Given the description of an element on the screen output the (x, y) to click on. 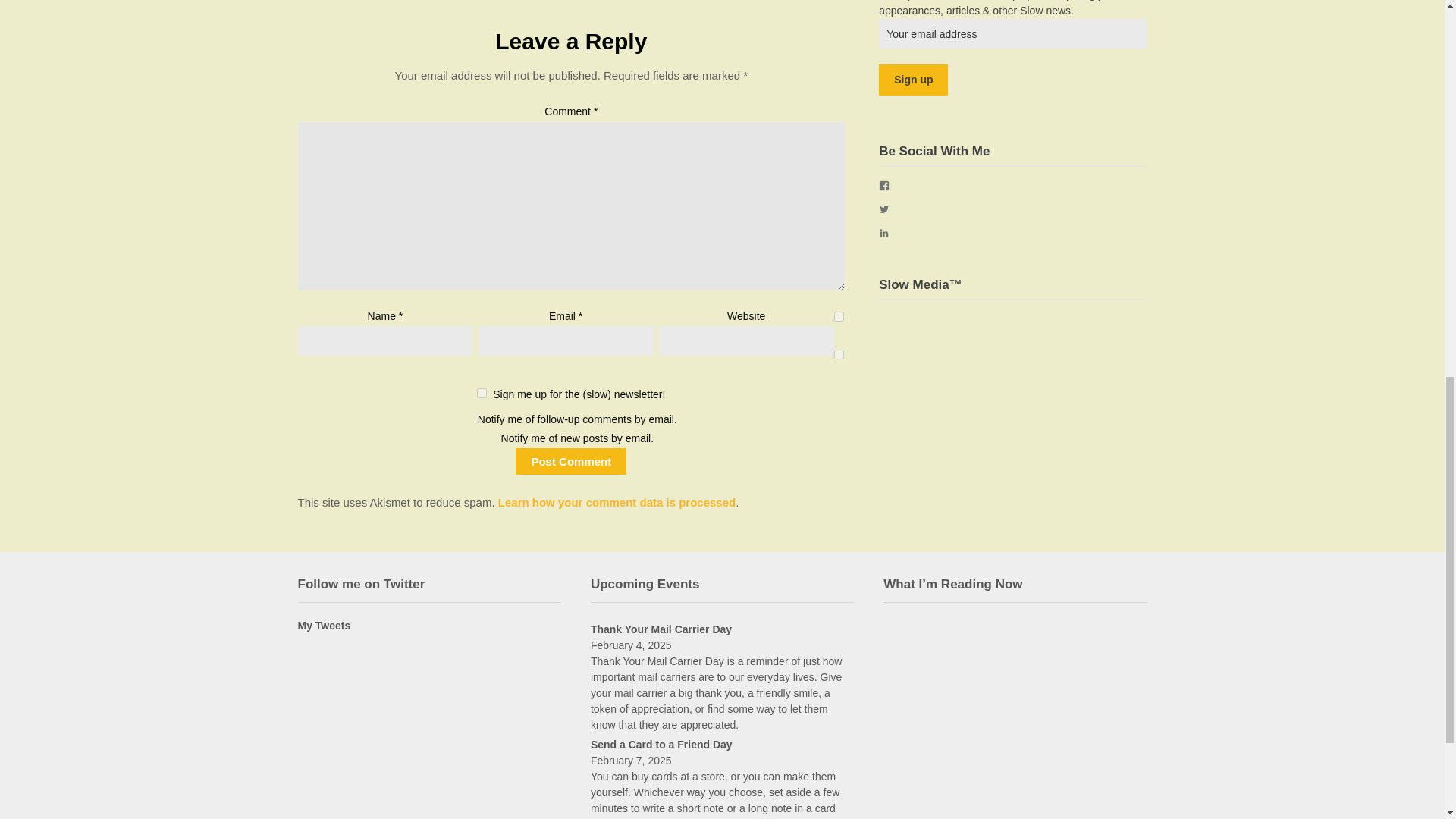
1 (481, 393)
Sign up (913, 79)
My Tweets (323, 625)
subscribe (839, 316)
subscribe (839, 354)
Sign up (913, 79)
Learn how your comment data is processed (616, 502)
Post Comment (570, 461)
Post Comment (570, 461)
